Given the description of an element on the screen output the (x, y) to click on. 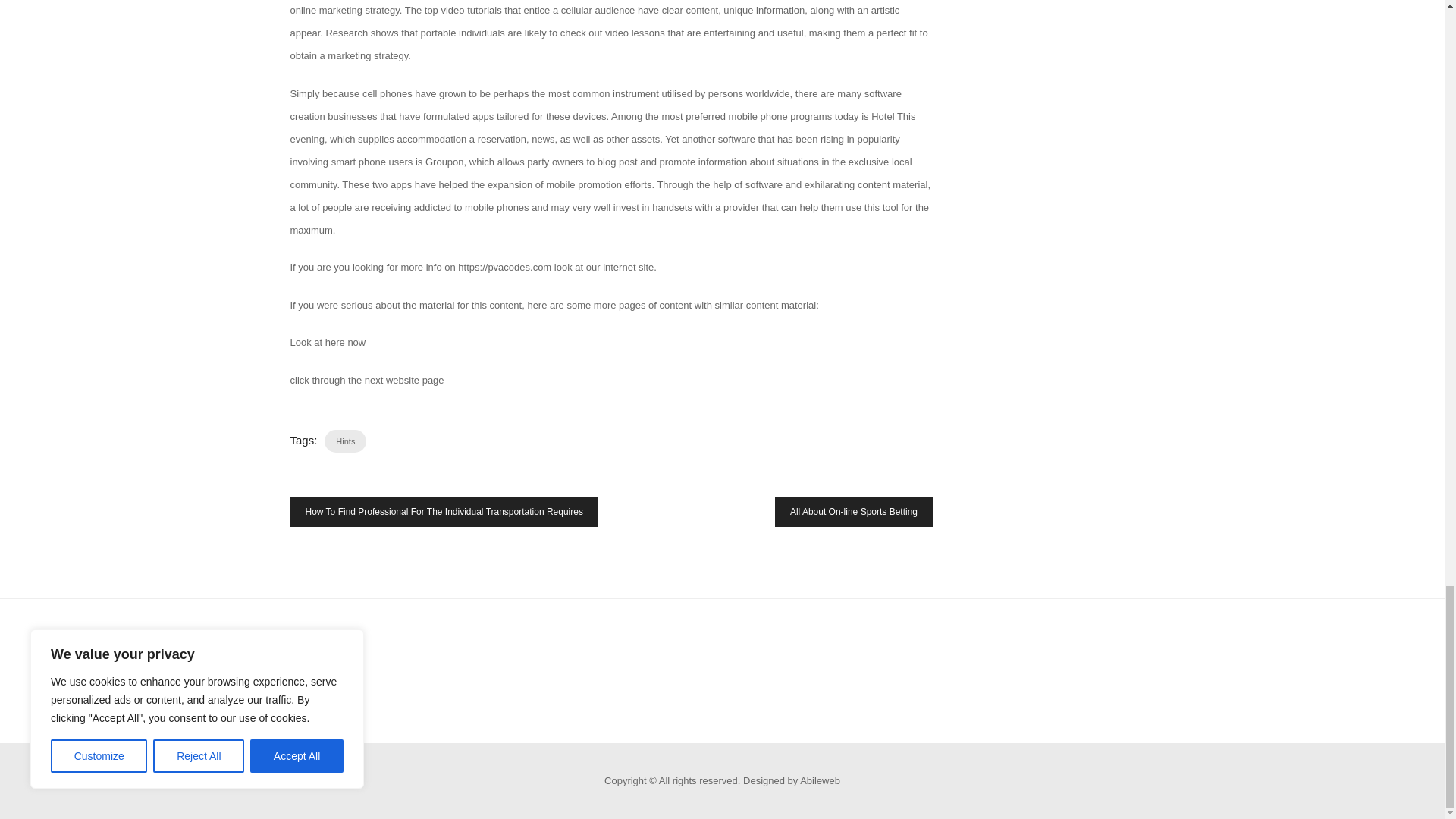
All About On-line Sports Betting (853, 511)
Hints (345, 440)
Look at here now (327, 342)
click through the next website page (366, 379)
material (436, 305)
